Given the description of an element on the screen output the (x, y) to click on. 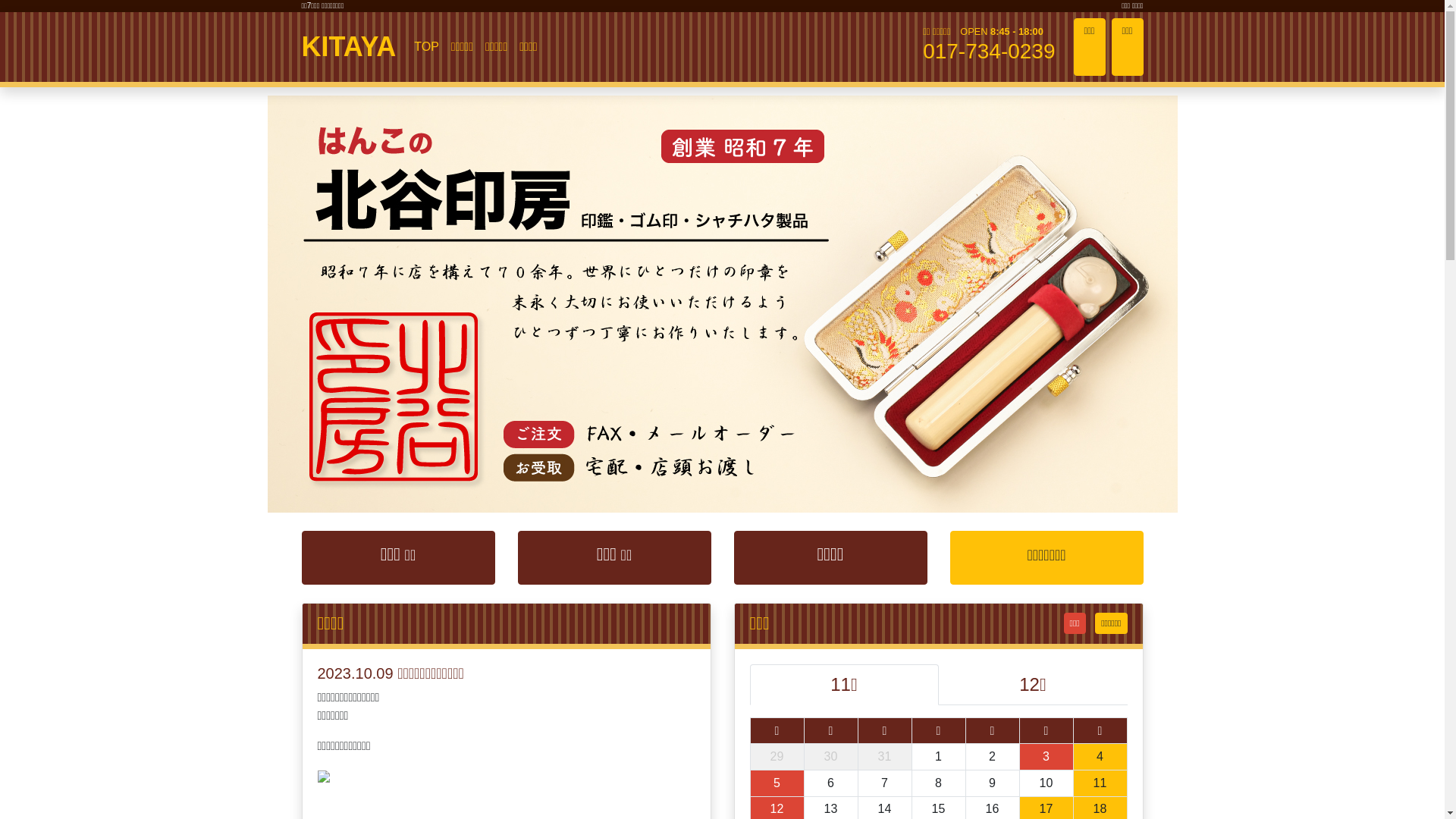
KITAYA Element type: text (348, 46)
TOP Element type: text (426, 46)
Next Element type: text (1335, 303)
Previous Element type: text (108, 303)
